Given the description of an element on the screen output the (x, y) to click on. 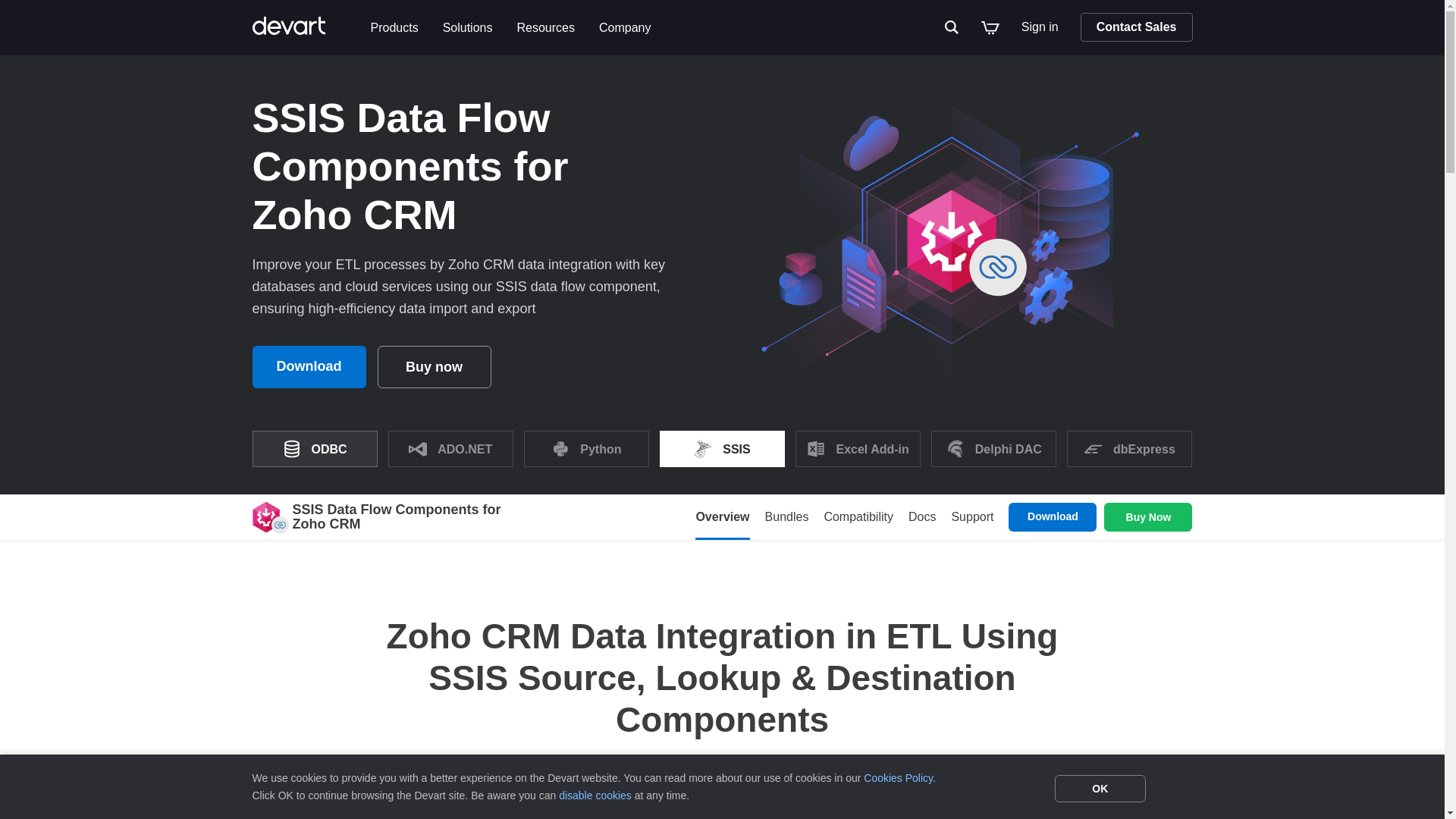
SSIS Data Flow Components for Zoho CRM (265, 516)
Devart (304, 27)
Button Search (939, 516)
Sign in (952, 27)
Products (1039, 27)
